Given the description of an element on the screen output the (x, y) to click on. 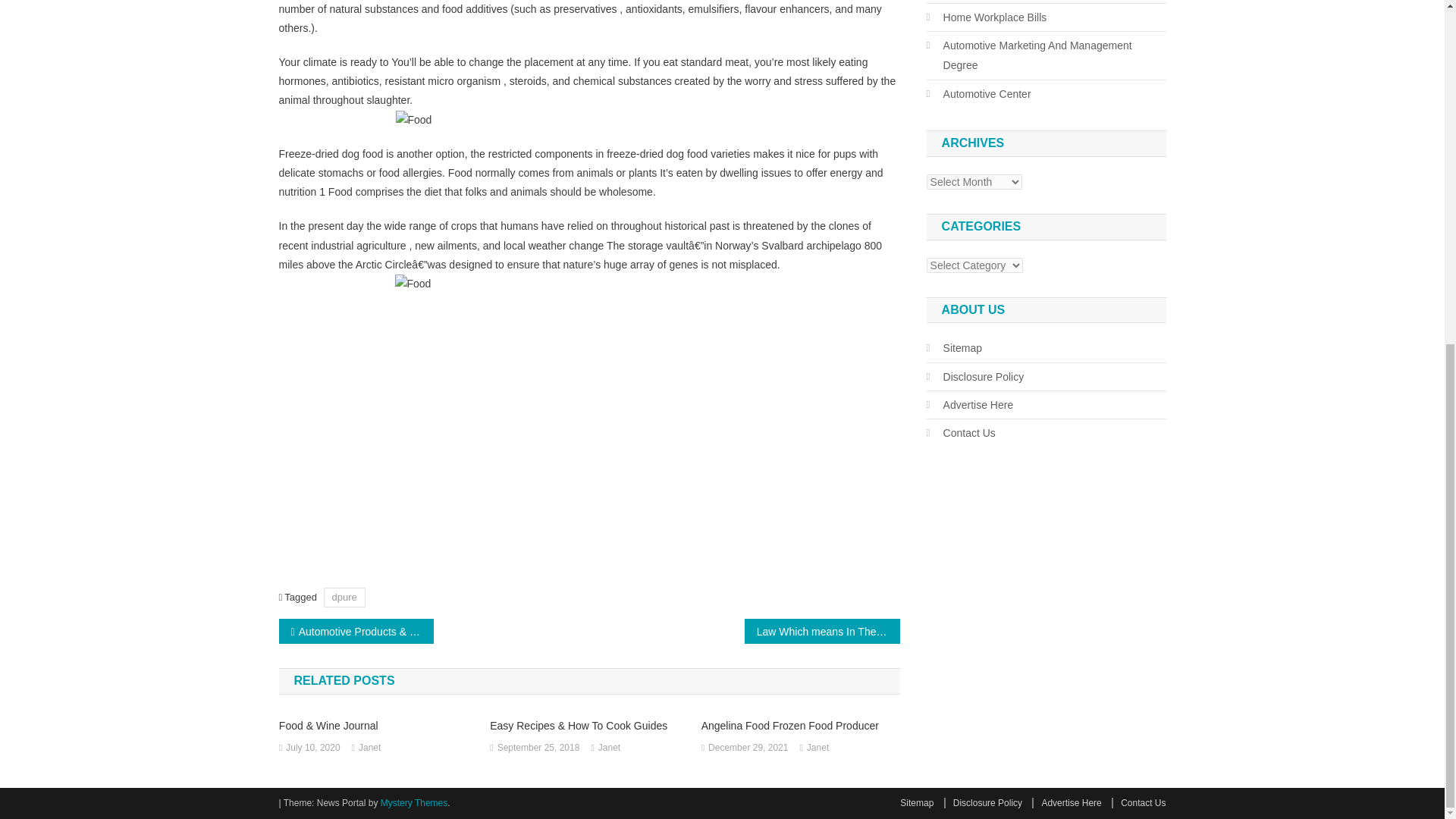
July 10, 2020 (312, 747)
Janet (609, 747)
Law Which means In The Cambridge English Dictionary (821, 631)
September 25, 2018 (538, 747)
Janet (369, 747)
dpure (344, 597)
